Given the description of an element on the screen output the (x, y) to click on. 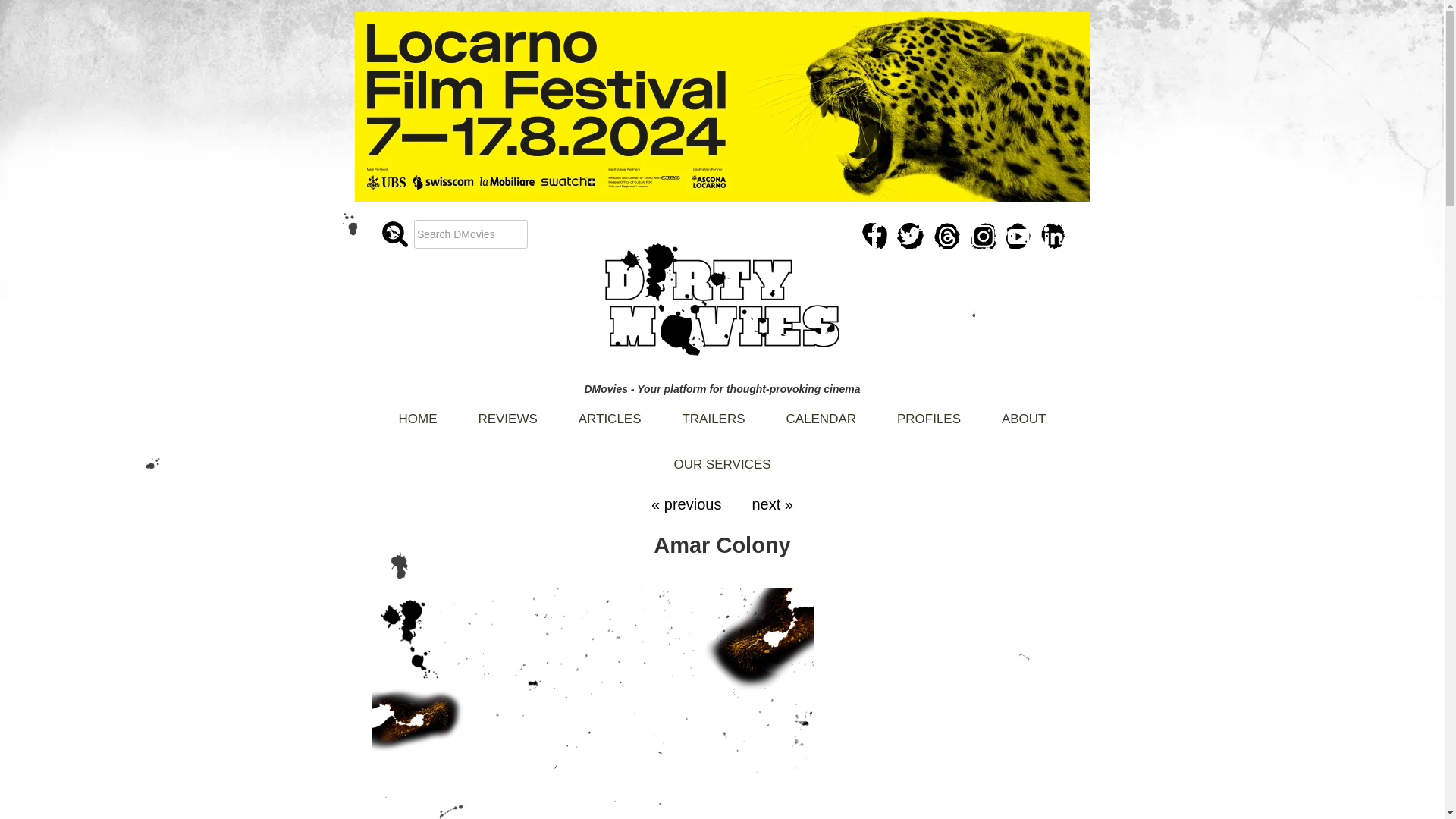
HOME (418, 411)
3rd party ad content (964, 697)
PROFILES (928, 411)
ARTICLES (610, 411)
REVIEWS (507, 411)
Submit (24, 9)
TRAILERS (712, 411)
CALENDAR (821, 411)
OUR SERVICES (721, 456)
ABOUT (1023, 411)
